Given the description of an element on the screen output the (x, y) to click on. 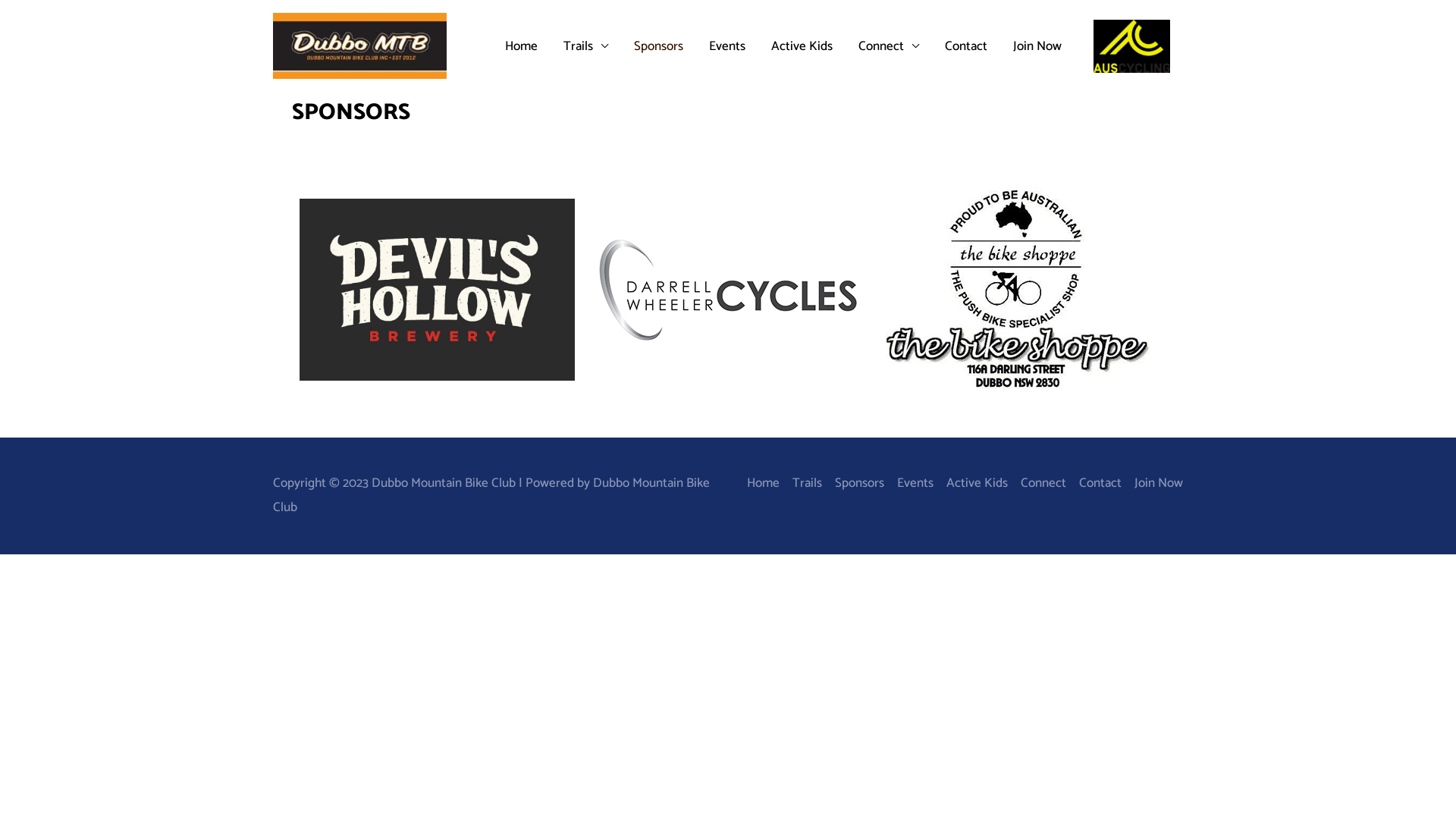
Connect Element type: text (1036, 482)
Home Element type: text (520, 45)
Connect Element type: text (887, 45)
Contact Element type: text (965, 45)
Home Element type: text (762, 482)
Active Kids Element type: text (970, 482)
Trails Element type: text (800, 482)
Join Now Element type: text (1036, 45)
Events Element type: text (727, 45)
Trails Element type: text (585, 45)
Sponsors Element type: text (657, 45)
Active Kids Element type: text (801, 45)
Sponsors Element type: text (853, 482)
Events Element type: text (908, 482)
Contact Element type: text (1093, 482)
Join Now Element type: text (1152, 482)
